Given the description of an element on the screen output the (x, y) to click on. 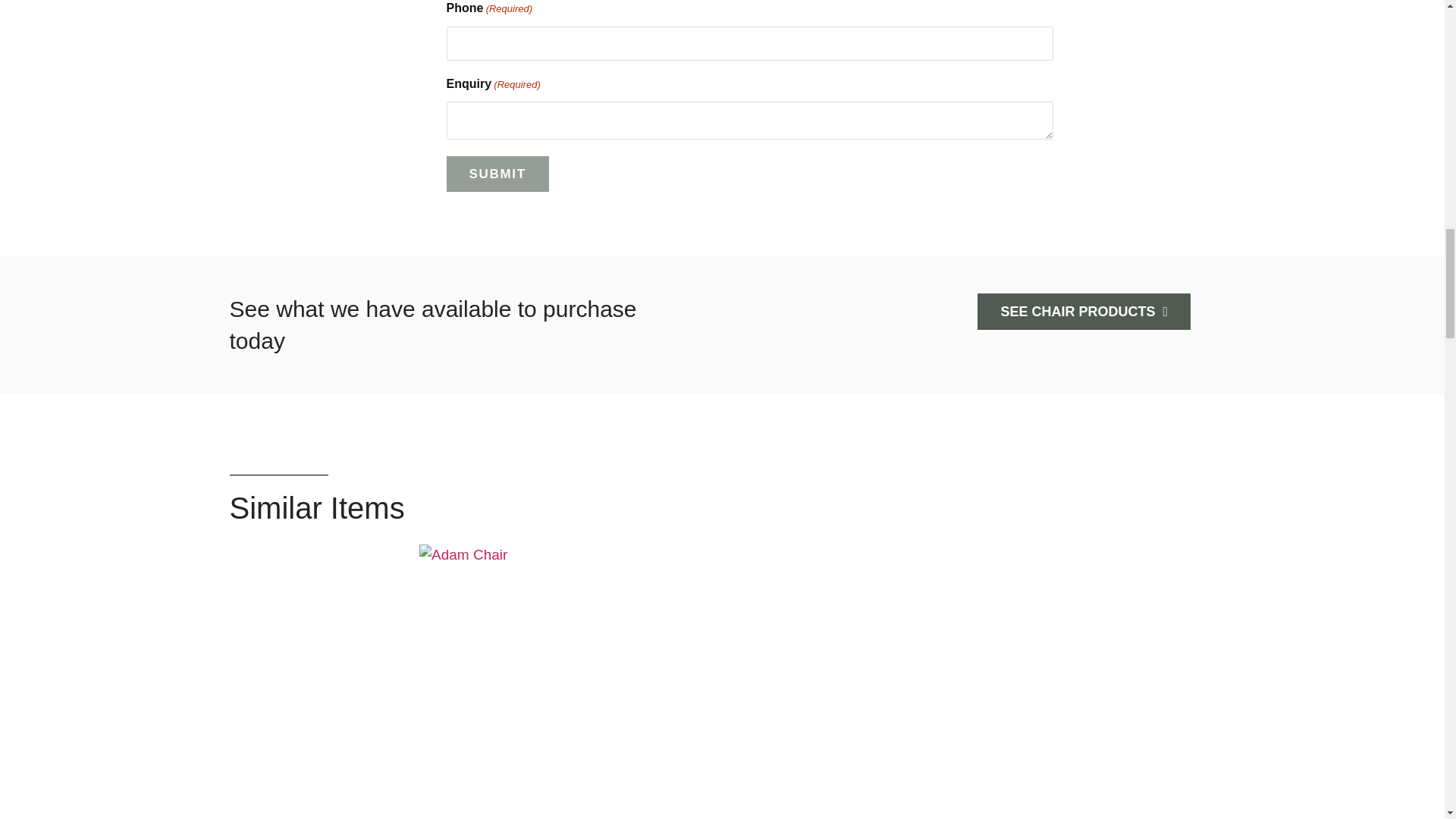
Submit (496, 173)
Submit (496, 173)
See what we have available to purchase today (432, 324)
SEE CHAIR PRODUCTS (1083, 311)
